Given the description of an element on the screen output the (x, y) to click on. 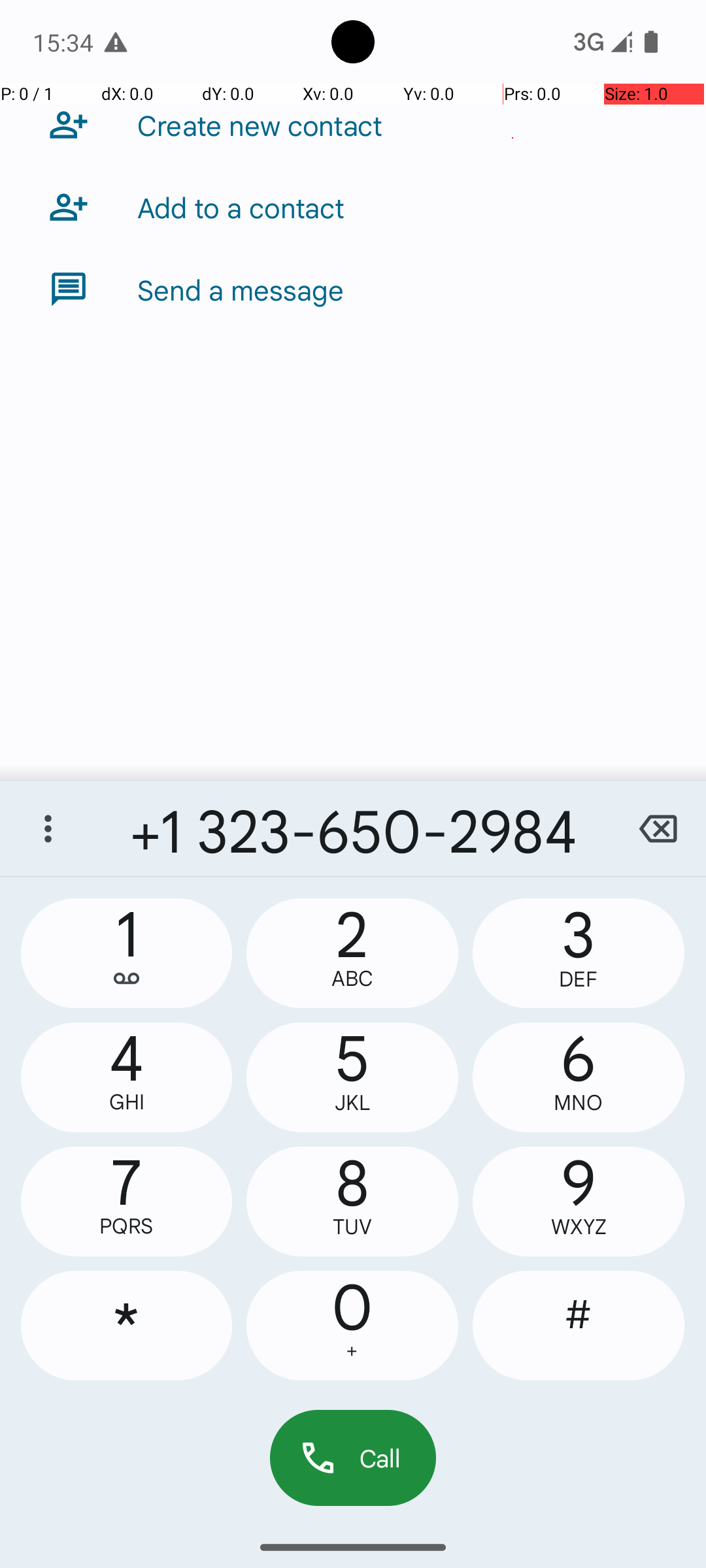
Call Element type: android.widget.Button (352, 1457)
+1 323-650-2984 Element type: android.widget.EditText (352, 828)
backspace Element type: android.widget.ImageButton (657, 828)
1, Element type: android.widget.FrameLayout (126, 953)
2,ABC Element type: android.widget.FrameLayout (352, 953)
3,DEF Element type: android.widget.FrameLayout (578, 953)
4,GHI Element type: android.widget.FrameLayout (126, 1077)
5,JKL Element type: android.widget.FrameLayout (352, 1077)
6,MNO Element type: android.widget.FrameLayout (578, 1077)
7,PQRS Element type: android.widget.FrameLayout (126, 1201)
8,TUV Element type: android.widget.FrameLayout (352, 1201)
9,WXYZ Element type: android.widget.FrameLayout (578, 1201)
* Element type: android.widget.FrameLayout (126, 1325)
# Element type: android.widget.FrameLayout (578, 1325)
key pad Element type: android.widget.ImageButton (616, 1437)
ABC Element type: android.widget.TextView (351, 978)
DEF Element type: android.widget.TextView (578, 978)
GHI Element type: android.widget.TextView (126, 1101)
JKL Element type: android.widget.TextView (351, 1102)
MNO Element type: android.widget.TextView (578, 1102)
PQRS Element type: android.widget.TextView (126, 1225)
TUV Element type: android.widget.TextView (351, 1226)
WXYZ Element type: android.widget.TextView (578, 1226)
+ Element type: android.widget.TextView (351, 1351)
Create new contact Element type: android.widget.TextView (260, 124)
Add to a contact Element type: android.widget.TextView (240, 206)
Send a message Element type: android.widget.TextView (240, 289)
